Given the description of an element on the screen output the (x, y) to click on. 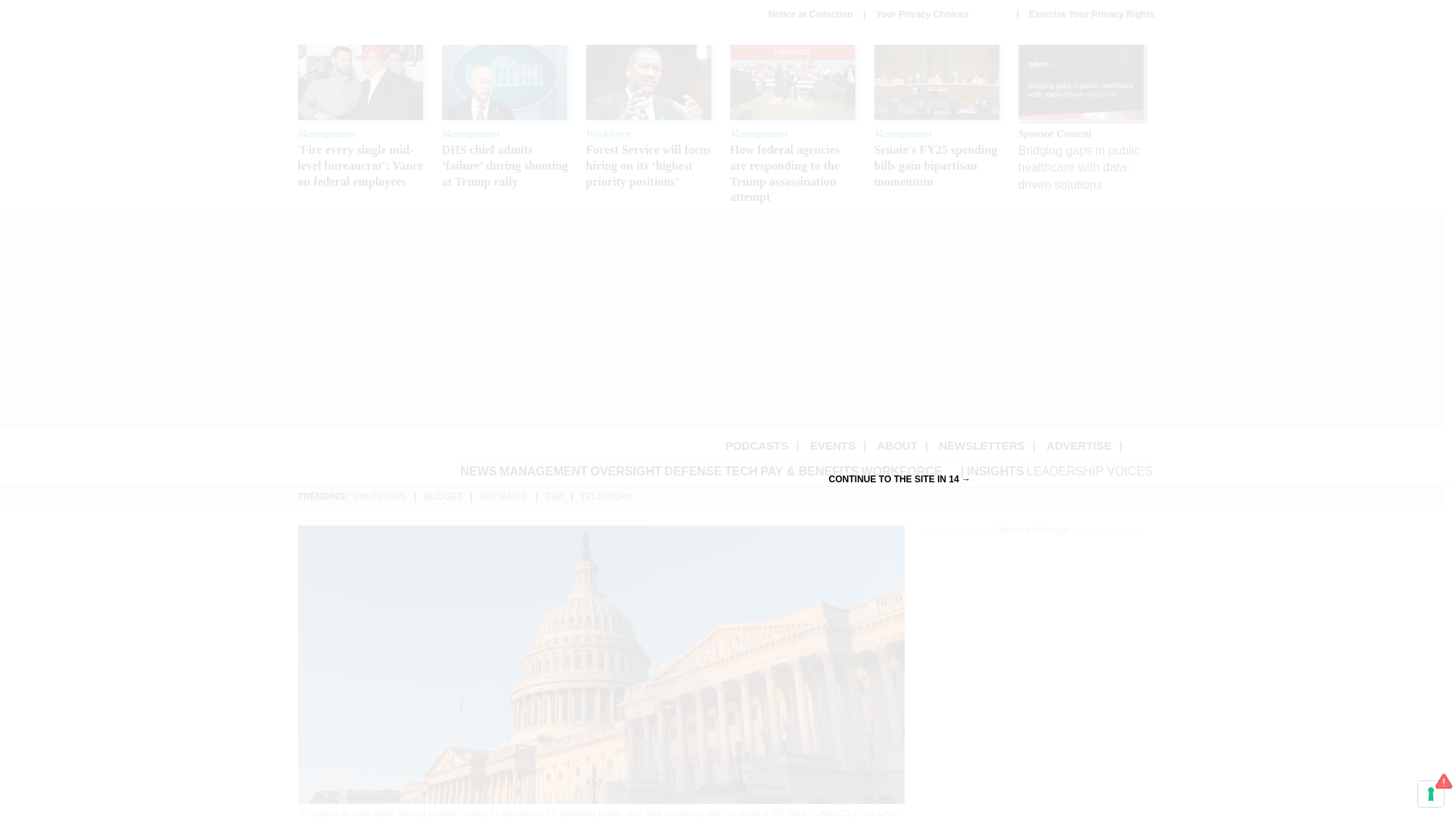
NEWSLETTERS (982, 445)
3rd party ad content (1032, 679)
Exercise Your Privacy Rights (1091, 14)
Your Privacy Choices (941, 14)
Notice at Collection (810, 14)
ABOUT (897, 445)
EVENTS (832, 445)
PODCASTS (756, 445)
